Given the description of an element on the screen output the (x, y) to click on. 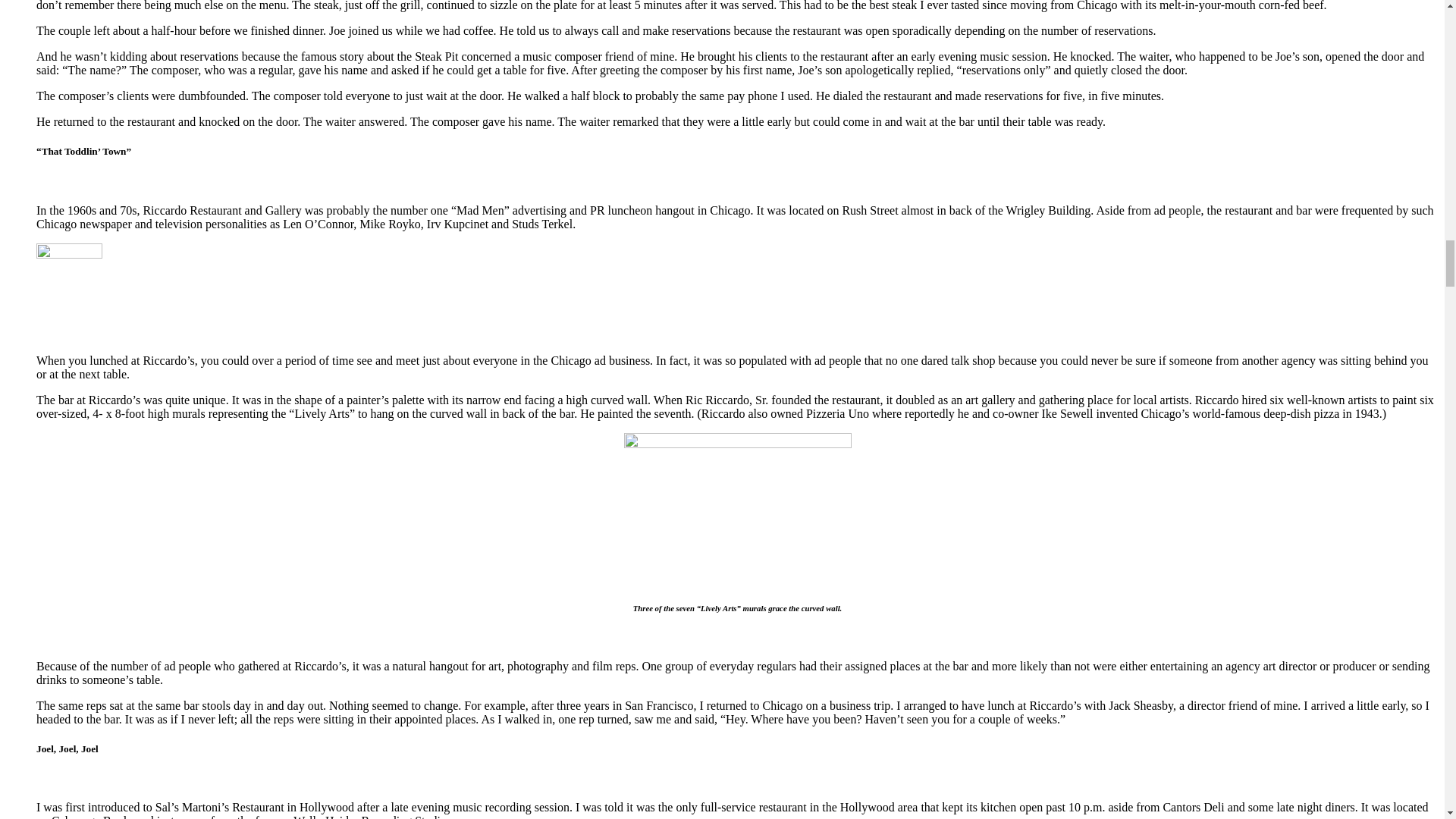
riccardosign1 (68, 292)
3arts (736, 508)
